Given the description of an element on the screen output the (x, y) to click on. 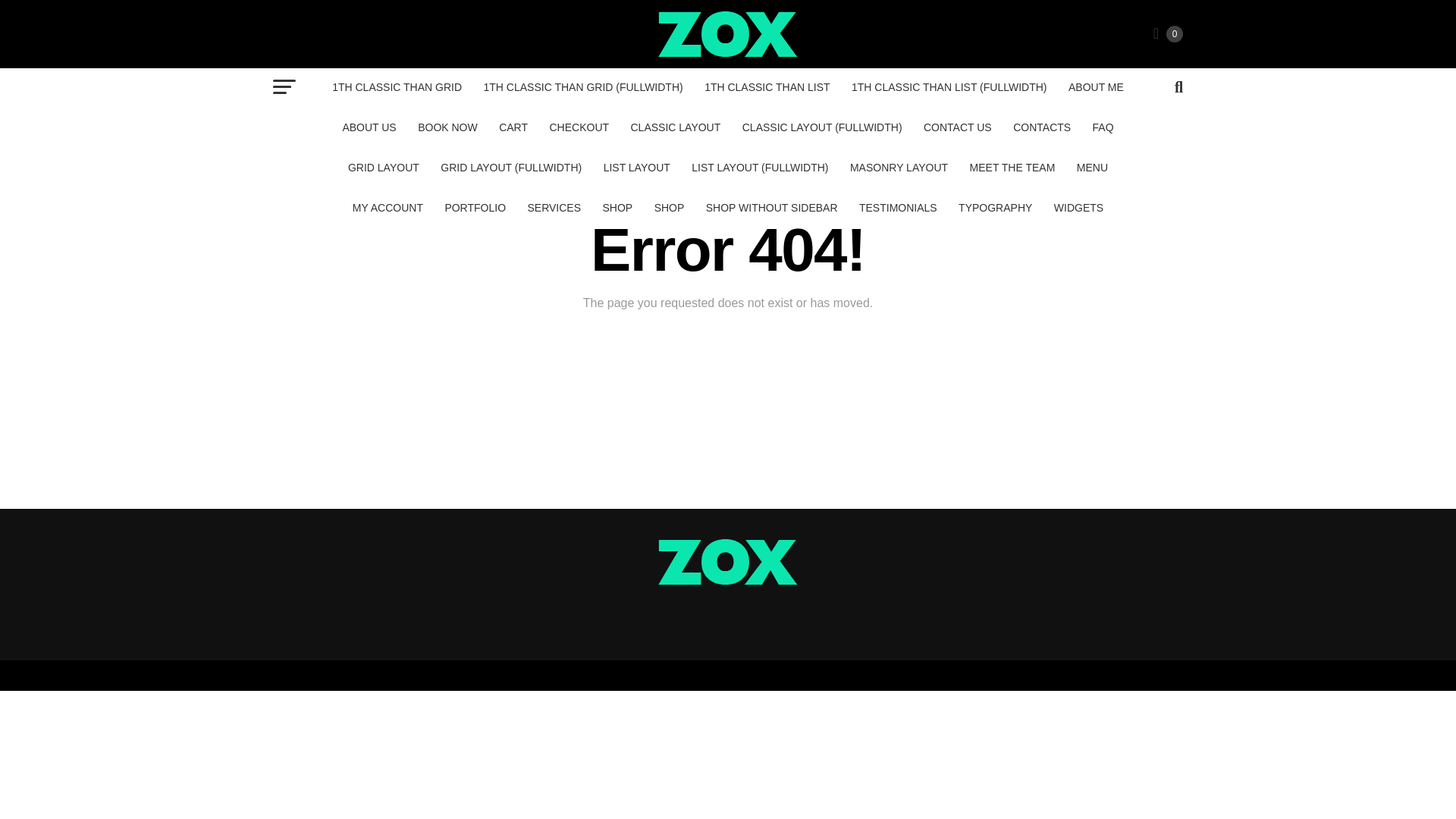
1TH CLASSIC THAN LIST (766, 86)
ABOUT US (368, 127)
ABOUT ME (1095, 86)
1TH CLASSIC THAN GRID (396, 86)
